Given the description of an element on the screen output the (x, y) to click on. 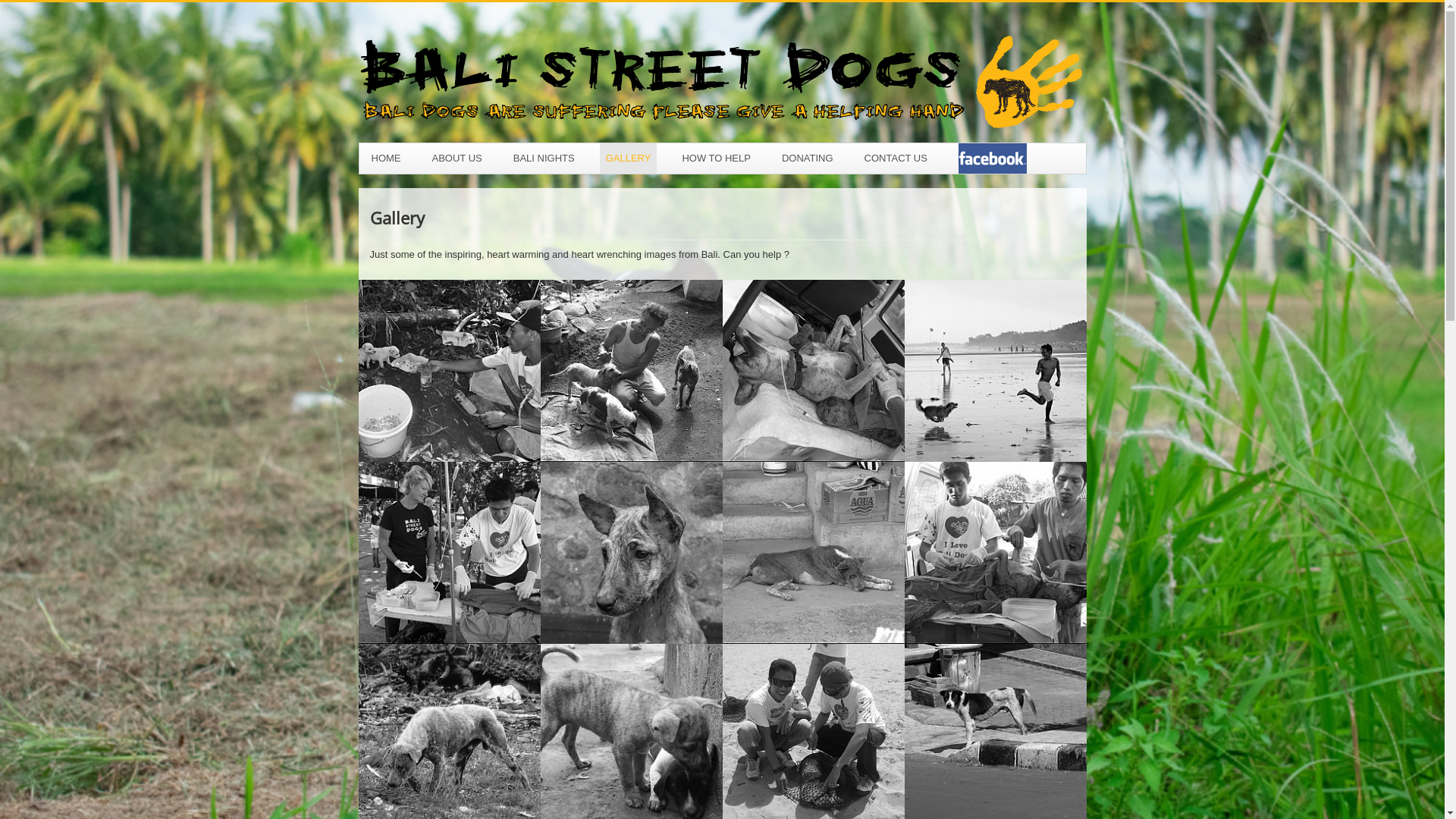
CONTACT US Element type: text (895, 158)
GALLERY Element type: text (628, 158)
HOW TO HELP Element type: text (715, 158)
ABOUT US Element type: text (457, 158)
DONATING Element type: text (807, 158)
HOME Element type: text (386, 158)
BALI NIGHTS Element type: text (543, 158)
